Given the description of an element on the screen output the (x, y) to click on. 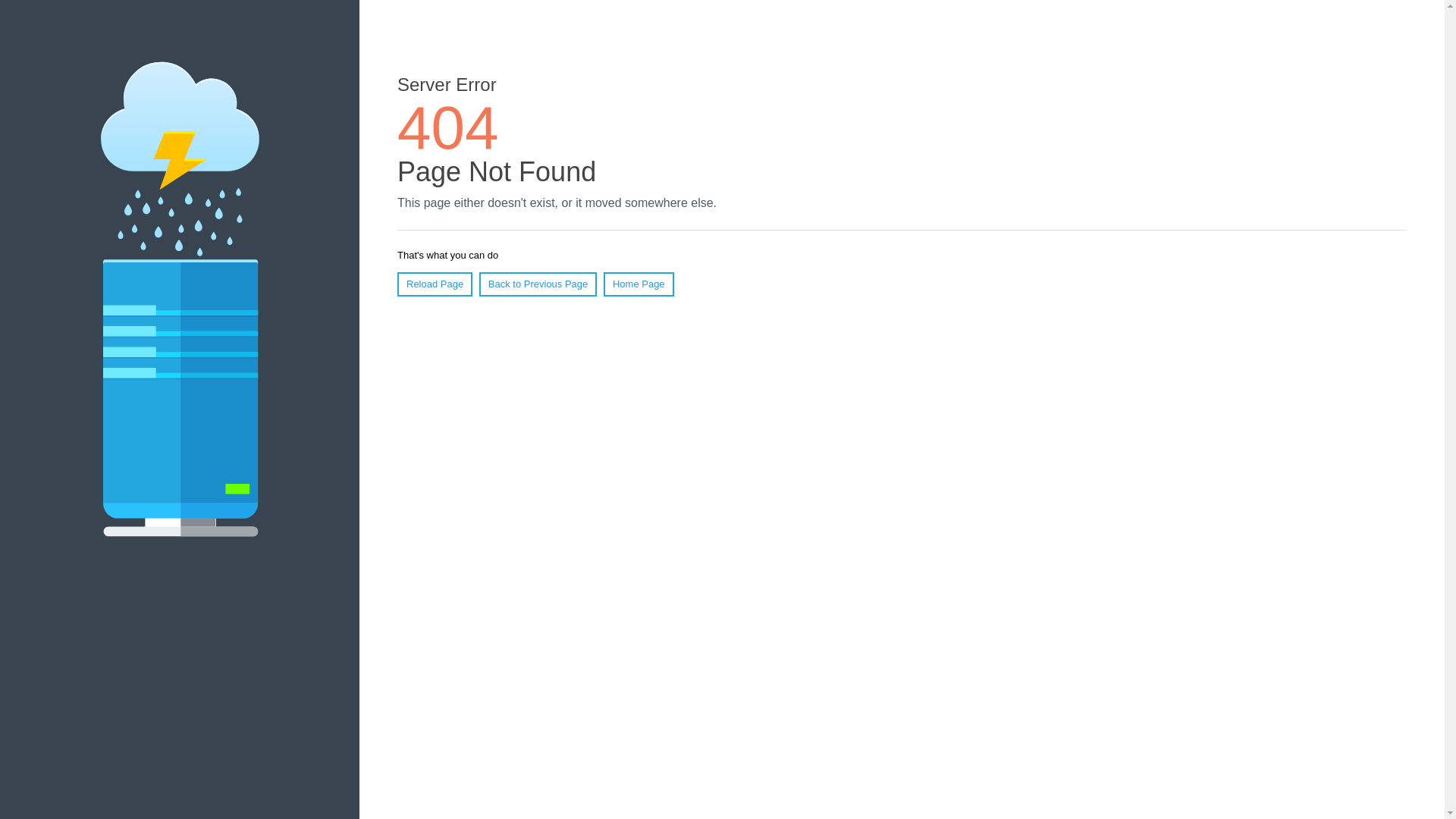
Home Page Element type: text (638, 284)
Reload Page Element type: text (434, 284)
Back to Previous Page Element type: text (538, 284)
